Given the description of an element on the screen output the (x, y) to click on. 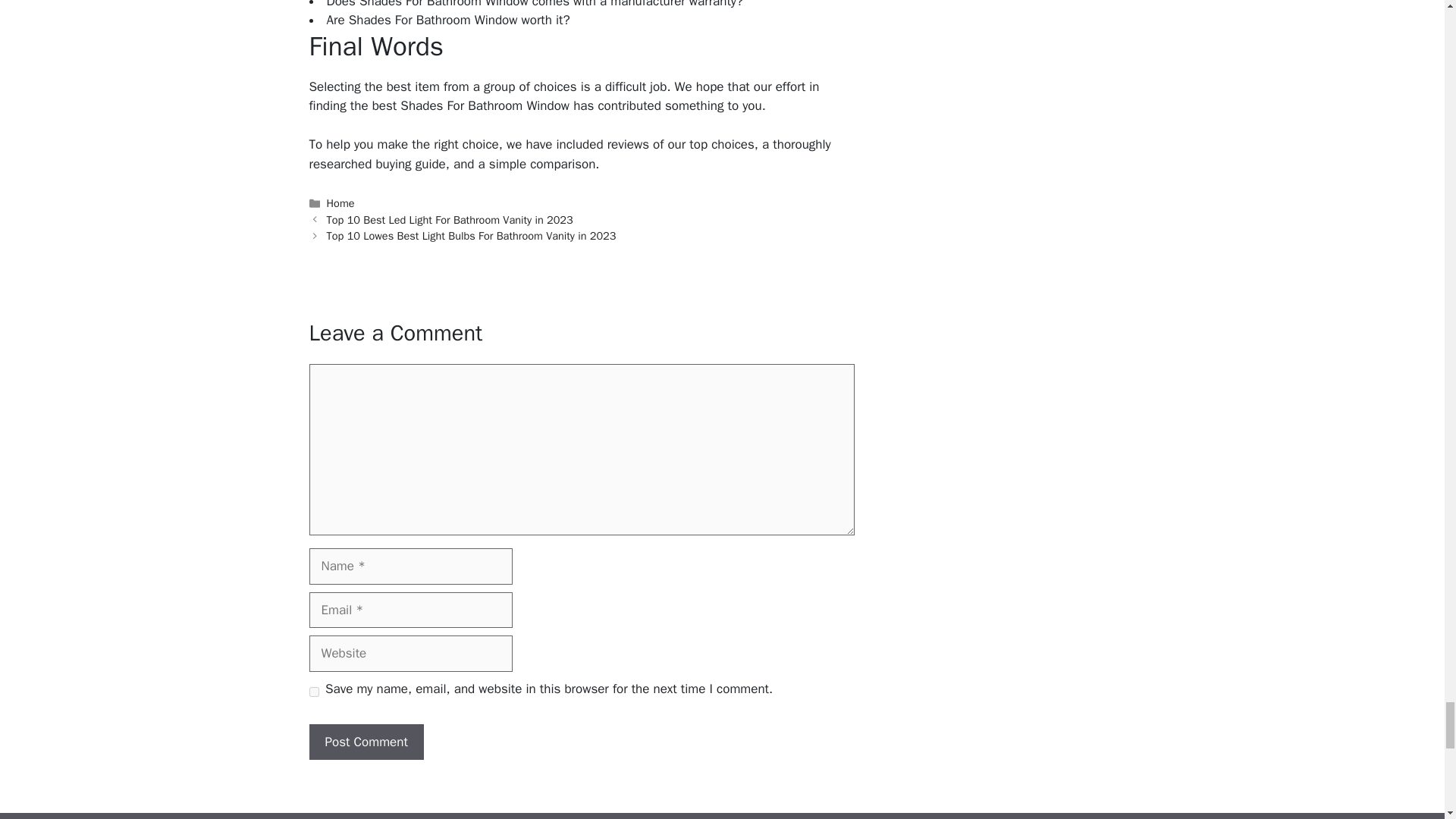
yes (313, 691)
Post Comment (365, 741)
